Given the description of an element on the screen output the (x, y) to click on. 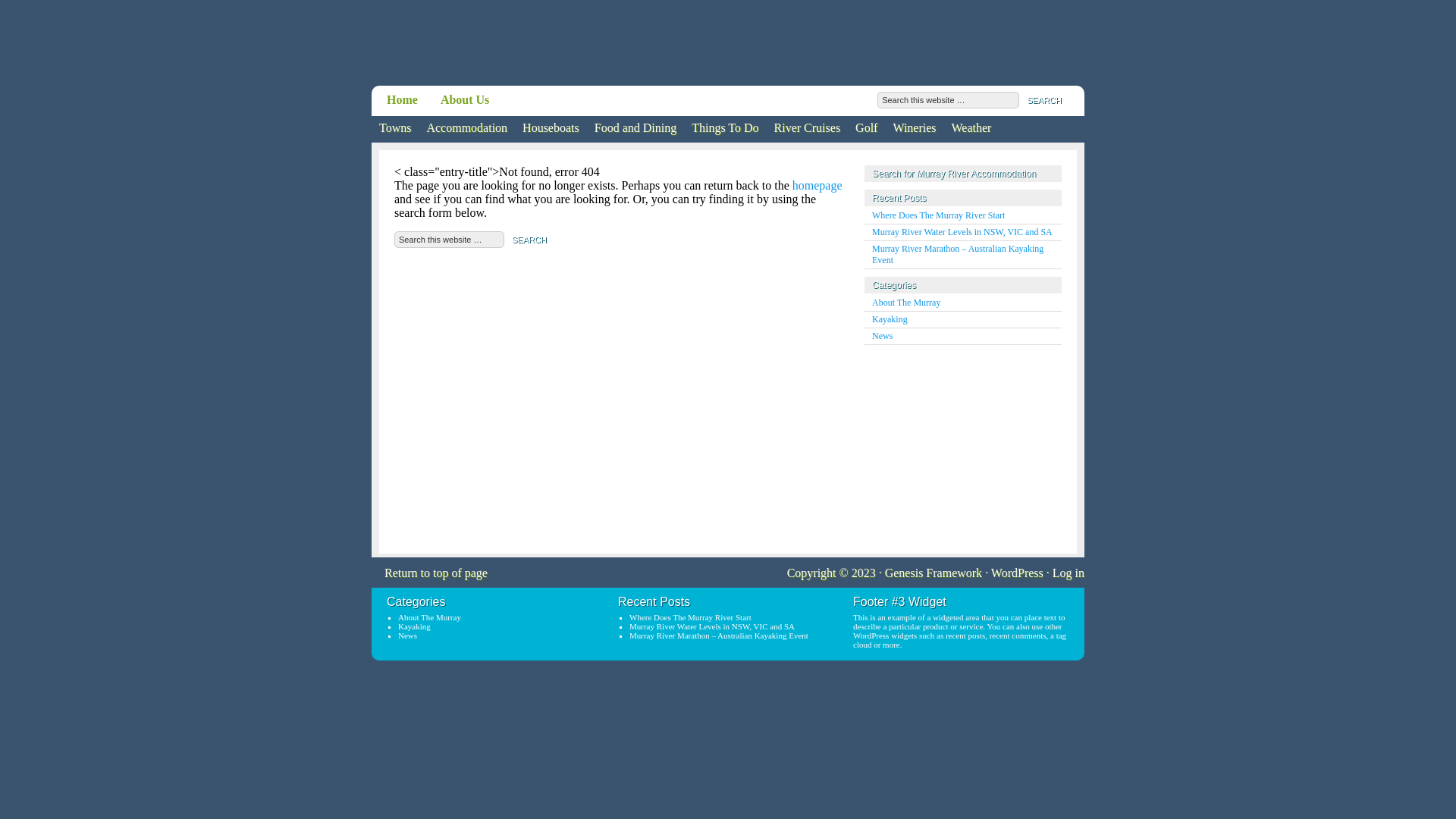
Murray River Guide Element type: text (536, 45)
Log in Element type: text (1068, 572)
Murray River Water Levels in NSW, VIC and SA Element type: text (962, 231)
Where Does The Murray River Start Element type: text (690, 616)
Where Does The Murray River Start Element type: text (938, 215)
Food and Dining Element type: text (635, 128)
Advertisement Element type: hover (902, 43)
About The Murray Element type: text (429, 616)
Genesis Framework Element type: text (933, 572)
Kayaking Element type: text (414, 625)
Return to top of page Element type: text (428, 574)
WordPress Element type: text (1017, 572)
Things To Do Element type: text (724, 128)
Houseboats Element type: text (550, 128)
Towns Element type: text (394, 128)
Search Element type: text (529, 239)
Golf Element type: text (865, 128)
About Us Element type: text (464, 99)
News Element type: text (882, 335)
About The Murray Element type: text (906, 302)
Murray River Water Levels in NSW, VIC and SA Element type: text (711, 625)
Kayaking Element type: text (889, 318)
River Cruises Element type: text (807, 128)
News Element type: text (407, 635)
Search Element type: text (1043, 99)
Wineries Element type: text (913, 128)
Accommodation Element type: text (466, 128)
Weather Element type: text (971, 128)
Home Element type: text (402, 99)
homepage Element type: text (817, 184)
Advertisement Element type: hover (959, 447)
